Given the description of an element on the screen output the (x, y) to click on. 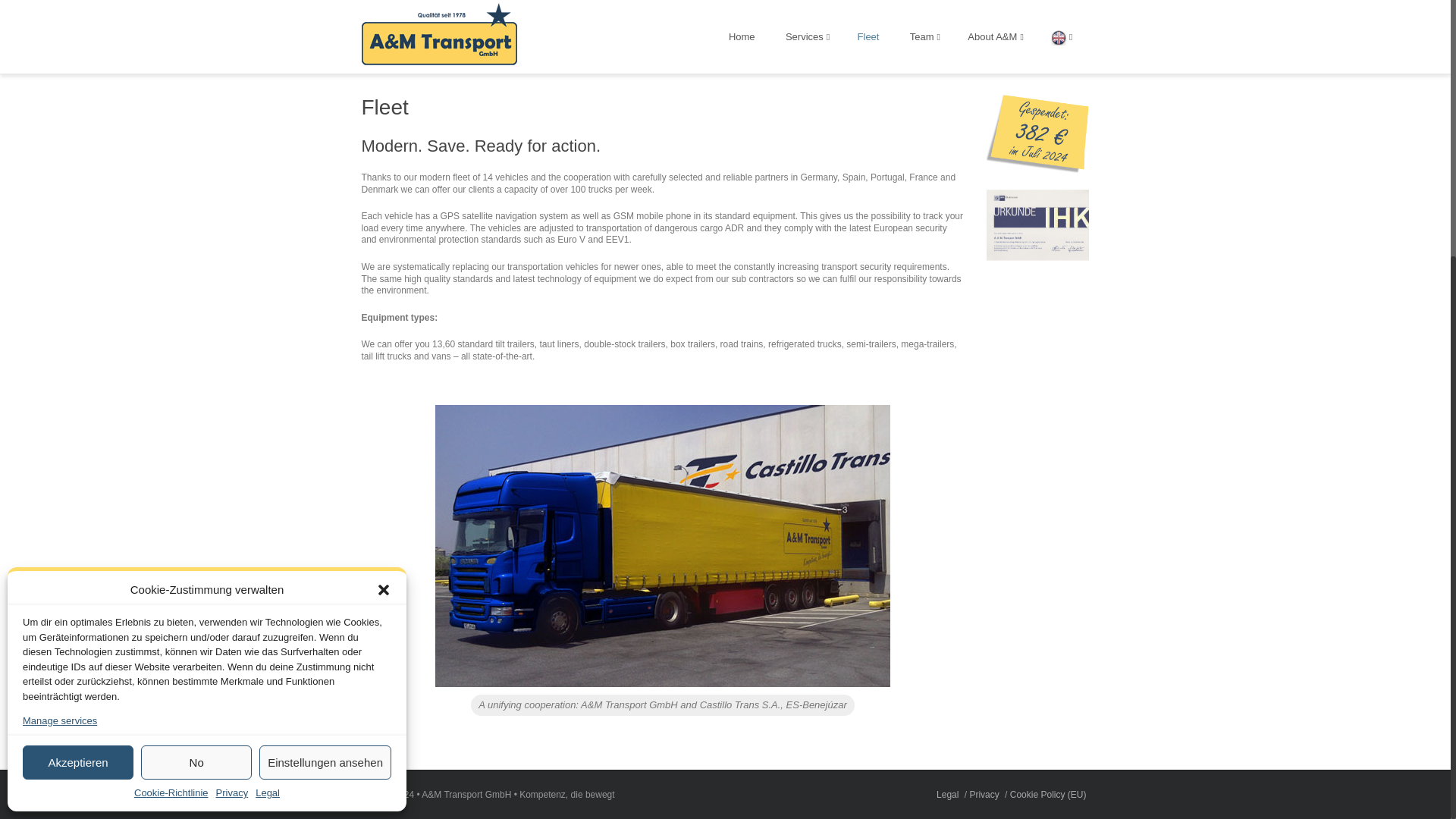
Akzeptieren (78, 390)
Manage services (60, 349)
We were awarded by the IHK in 2020. (1038, 258)
Einstellungen ansehen (325, 390)
Legal (267, 420)
Cookie-Richtlinie (170, 420)
Privacy (231, 420)
No (196, 390)
We donated: 382 EUR in July 2024. (1038, 170)
